Given the description of an element on the screen output the (x, y) to click on. 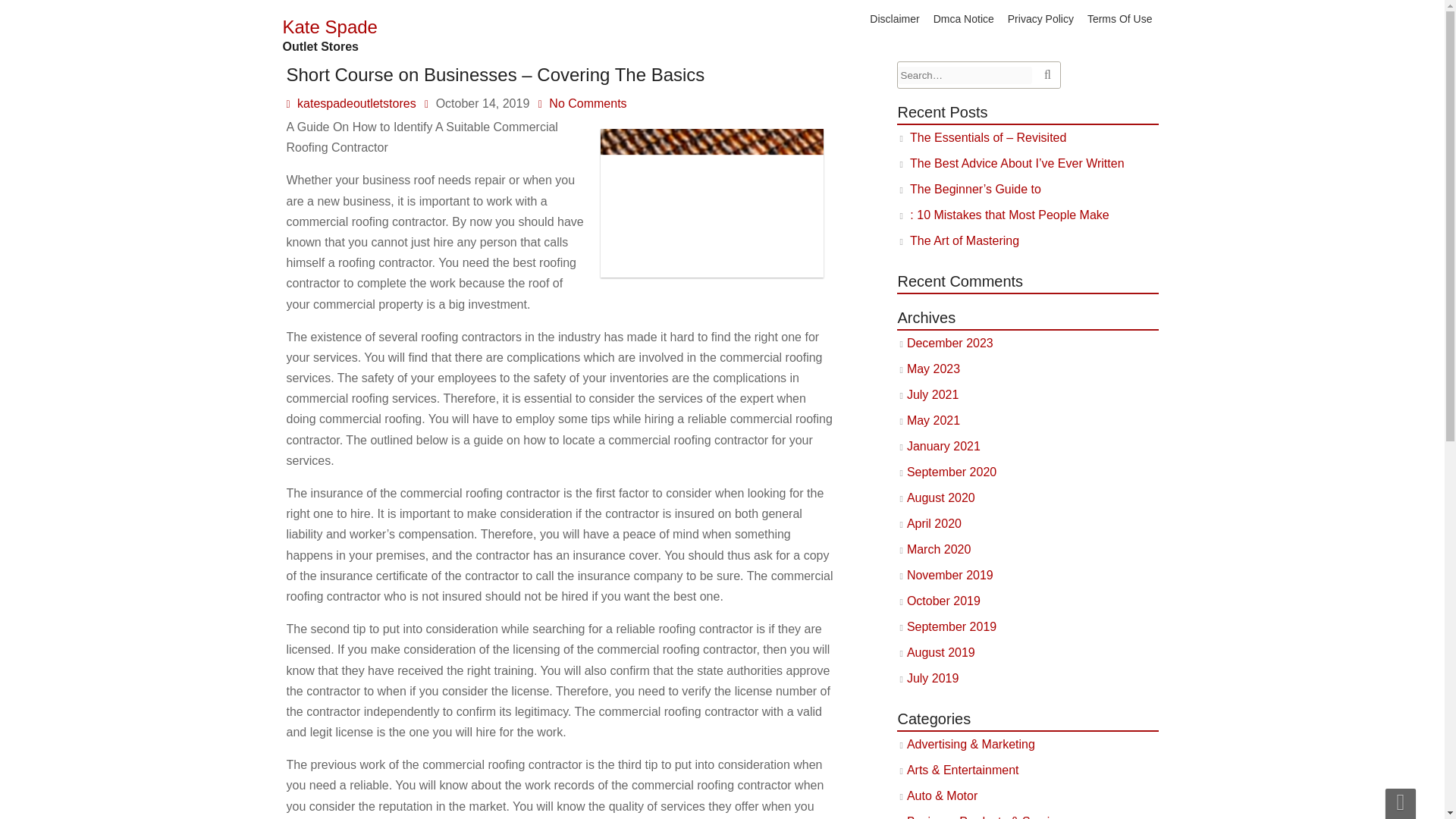
July 2019 (933, 677)
Posts by katespadeoutletstores (356, 103)
August 2019 (941, 652)
May 2023 (933, 368)
March 2020 (939, 549)
December 2023 (949, 342)
No Comments (587, 103)
katespadeoutletstores (356, 103)
: 10 Mistakes that Most People Make (1009, 214)
Disclaimer (894, 18)
September 2020 (951, 472)
Dmca Notice (963, 18)
July 2021 (933, 394)
May 2021 (933, 420)
The Art of Mastering (964, 240)
